Given the description of an element on the screen output the (x, y) to click on. 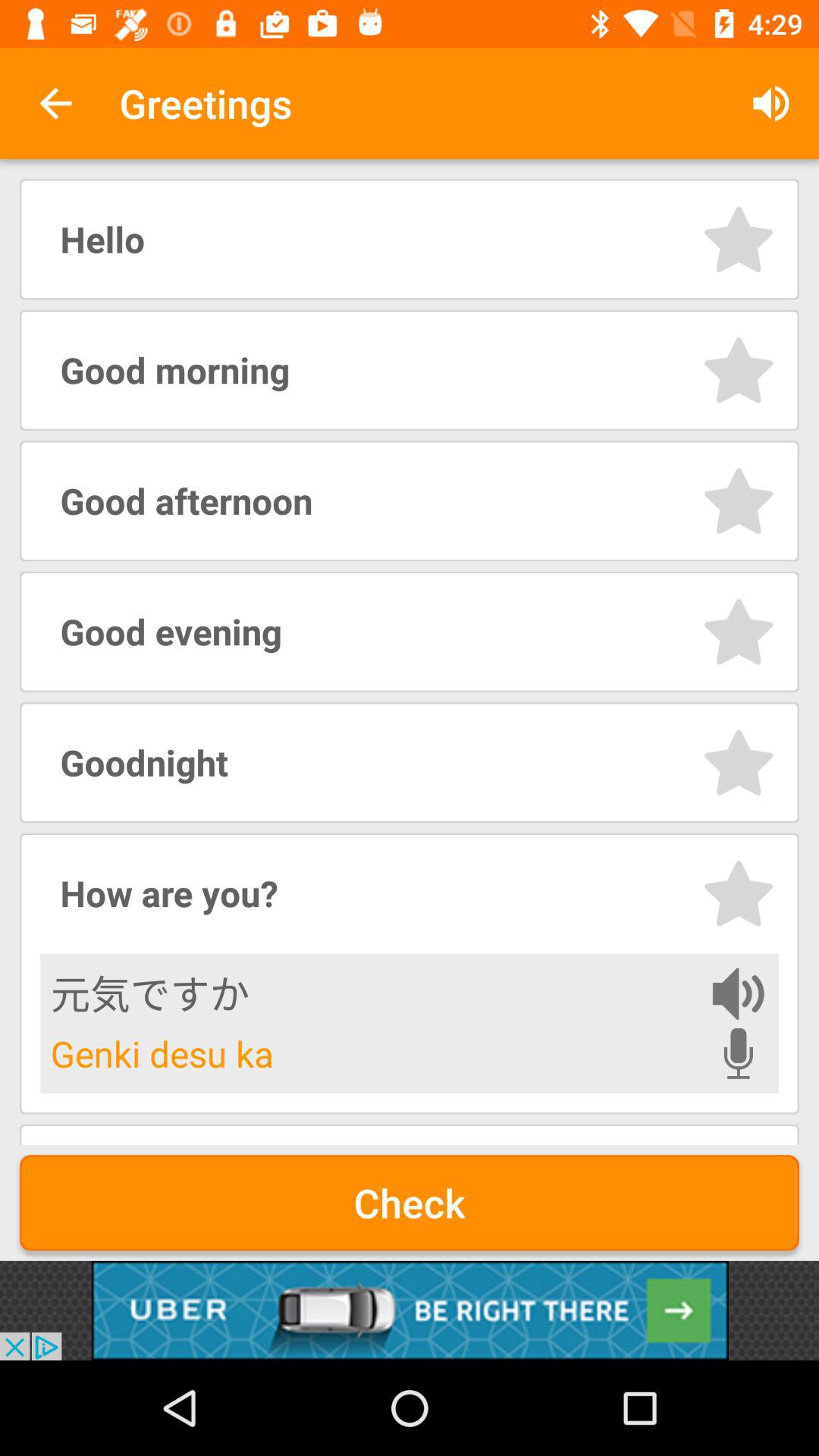
listen to phrase (738, 993)
